Given the description of an element on the screen output the (x, y) to click on. 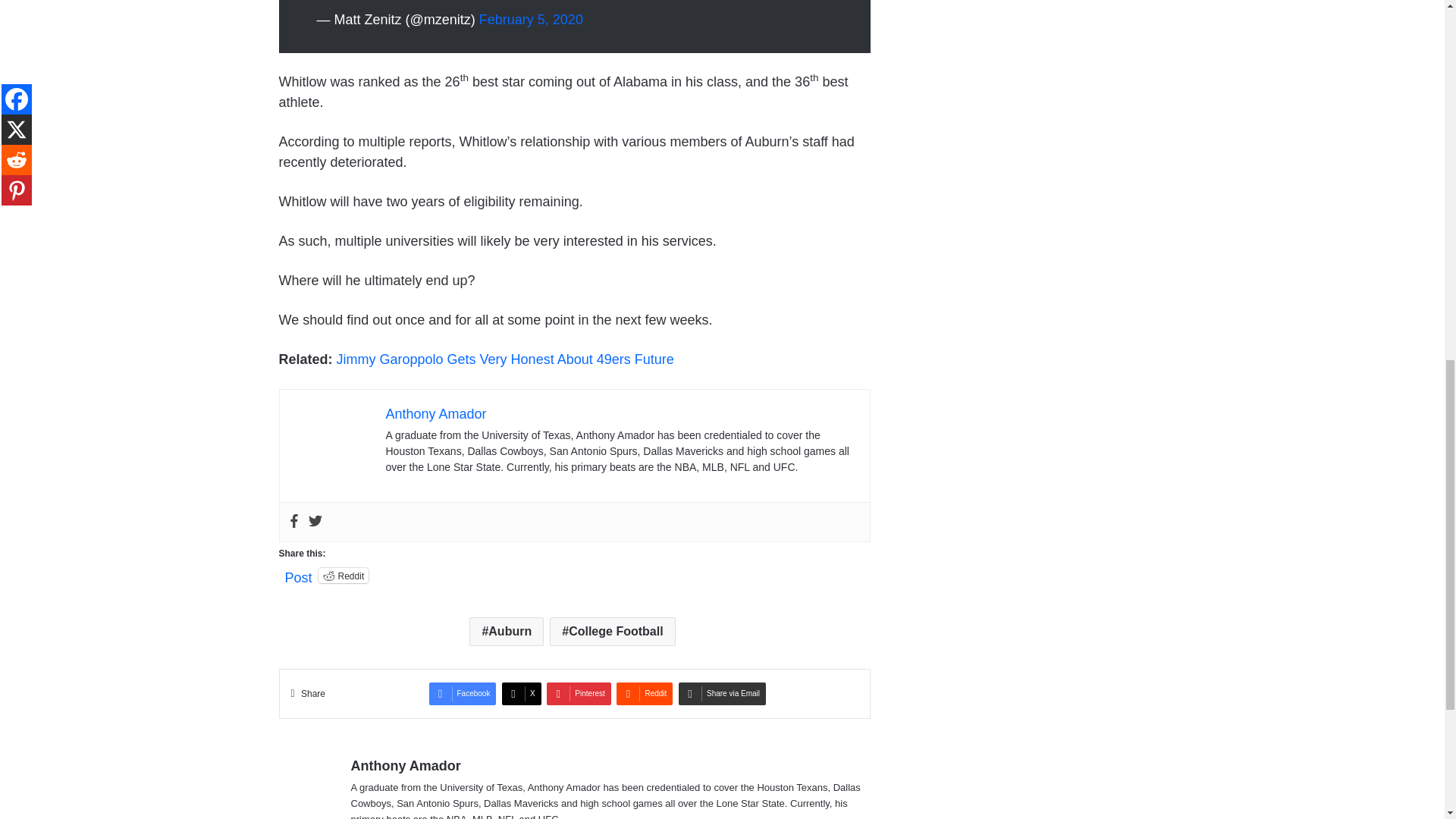
Jimmy Garoppolo Gets Very Honest About 49ers Future (505, 359)
Post (299, 574)
Jimmy Garoppolo Gets Very Honest About 49ers Future (505, 359)
Anthony Amador (435, 413)
February 5, 2020 (531, 19)
Auburn (505, 631)
Reddit (343, 575)
